Given the description of an element on the screen output the (x, y) to click on. 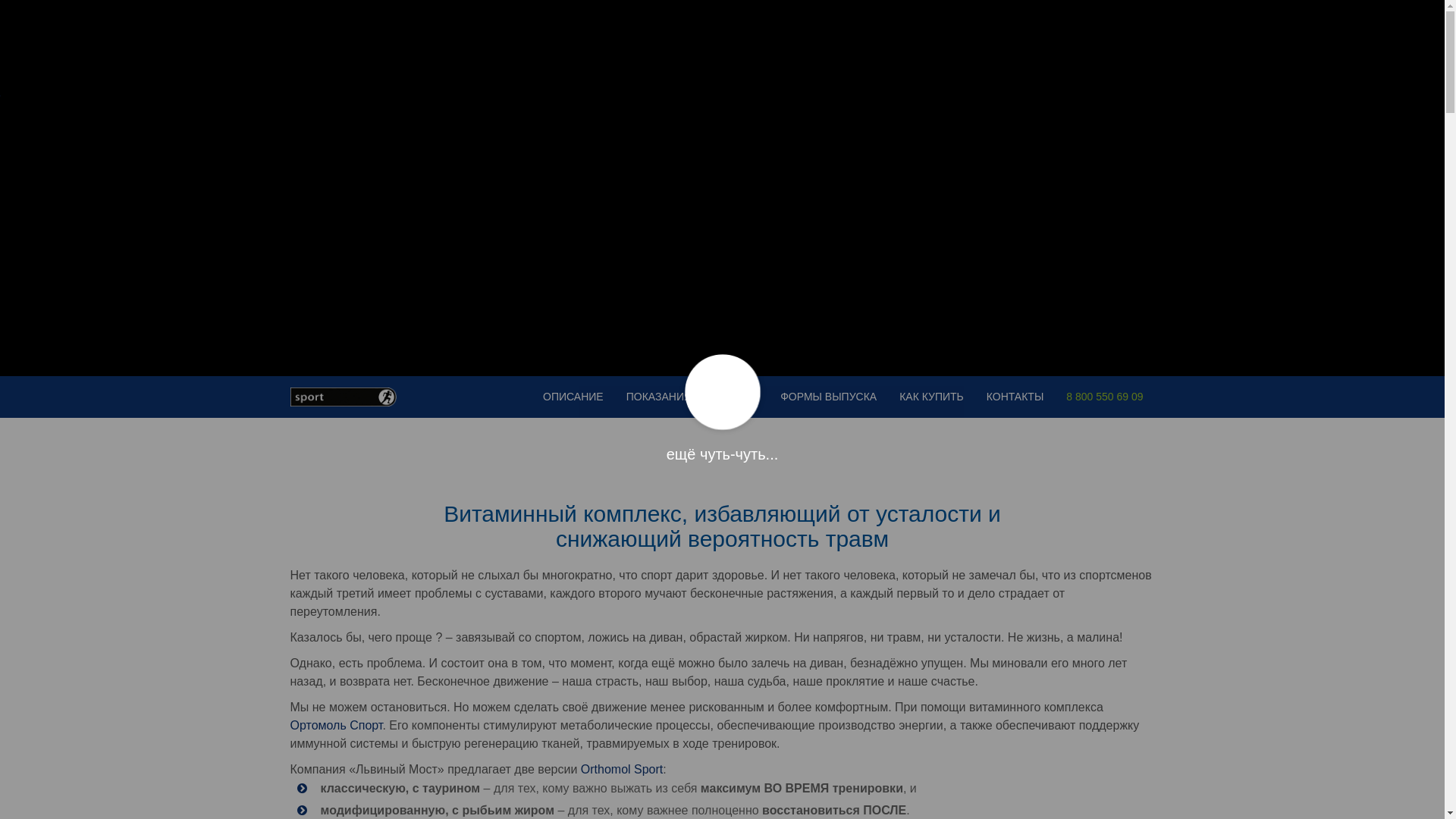
bg Element type: text (0, 95)
Orthomol Sport Element type: text (621, 768)
8 800 550 69 09 Element type: text (1104, 396)
